Given the description of an element on the screen output the (x, y) to click on. 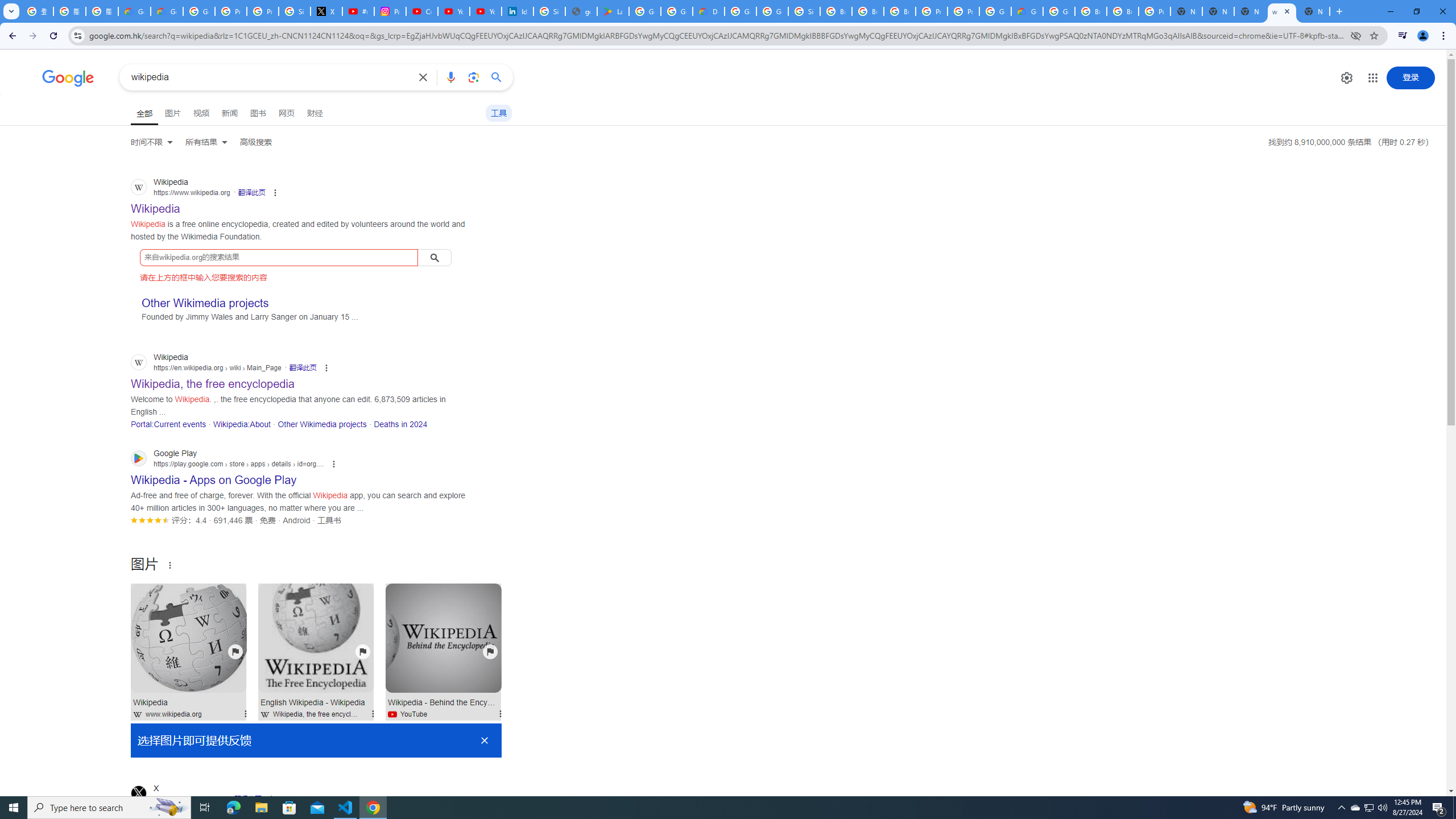
Browse Chrome as a guest - Computer - Google Chrome Help (836, 11)
Sign in - Google Accounts (804, 11)
#nbabasketballhighlights - YouTube (358, 11)
Browse Chrome as a guest - Computer - Google Chrome Help (1091, 11)
Google Cloud Privacy Notice (134, 11)
Privacy Help Center - Policies Help (262, 11)
